Given the description of an element on the screen output the (x, y) to click on. 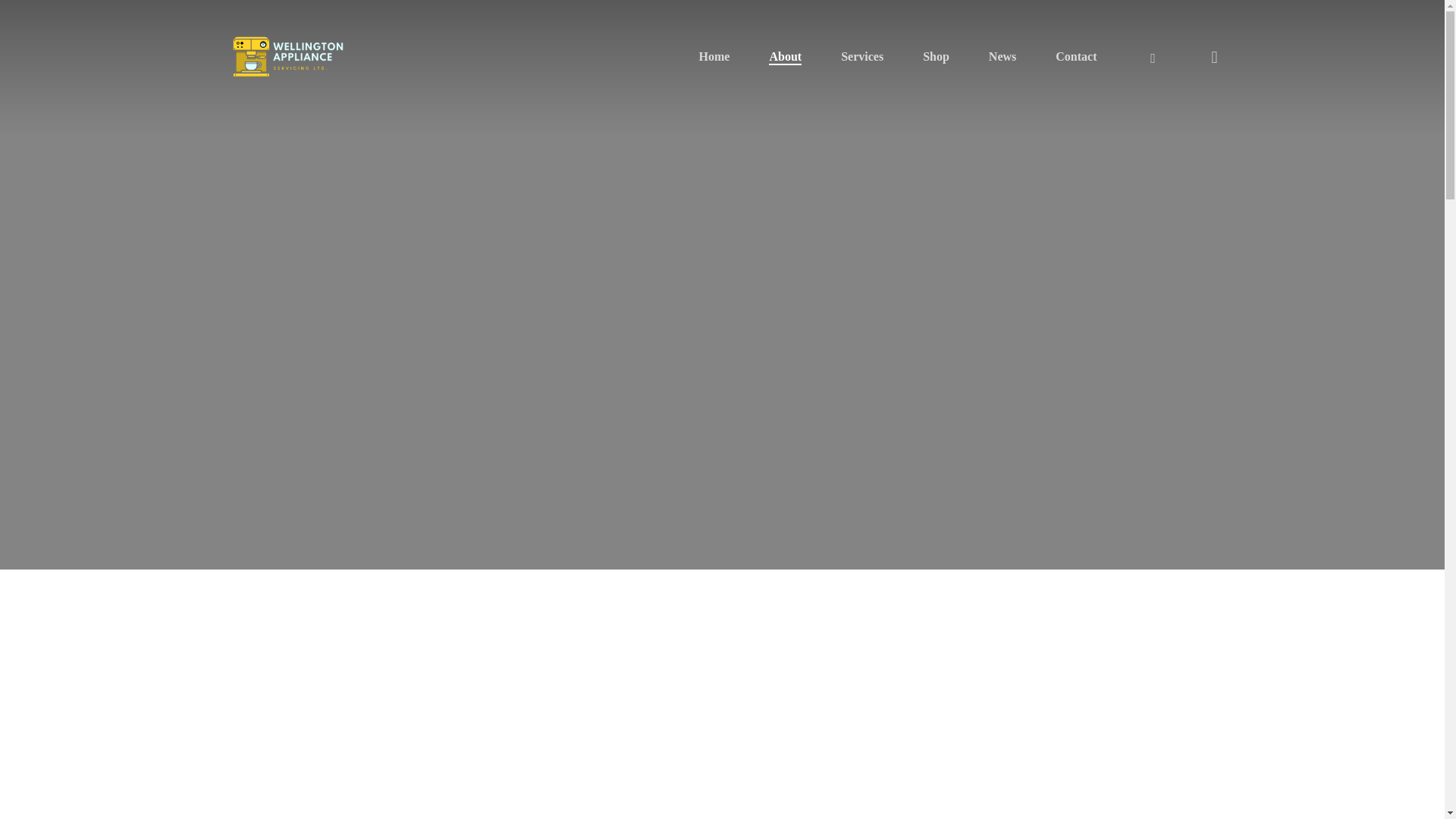
Services (862, 56)
Home (714, 56)
Shop (936, 56)
Contact (1075, 56)
News (1002, 56)
About (785, 56)
